Given the description of an element on the screen output the (x, y) to click on. 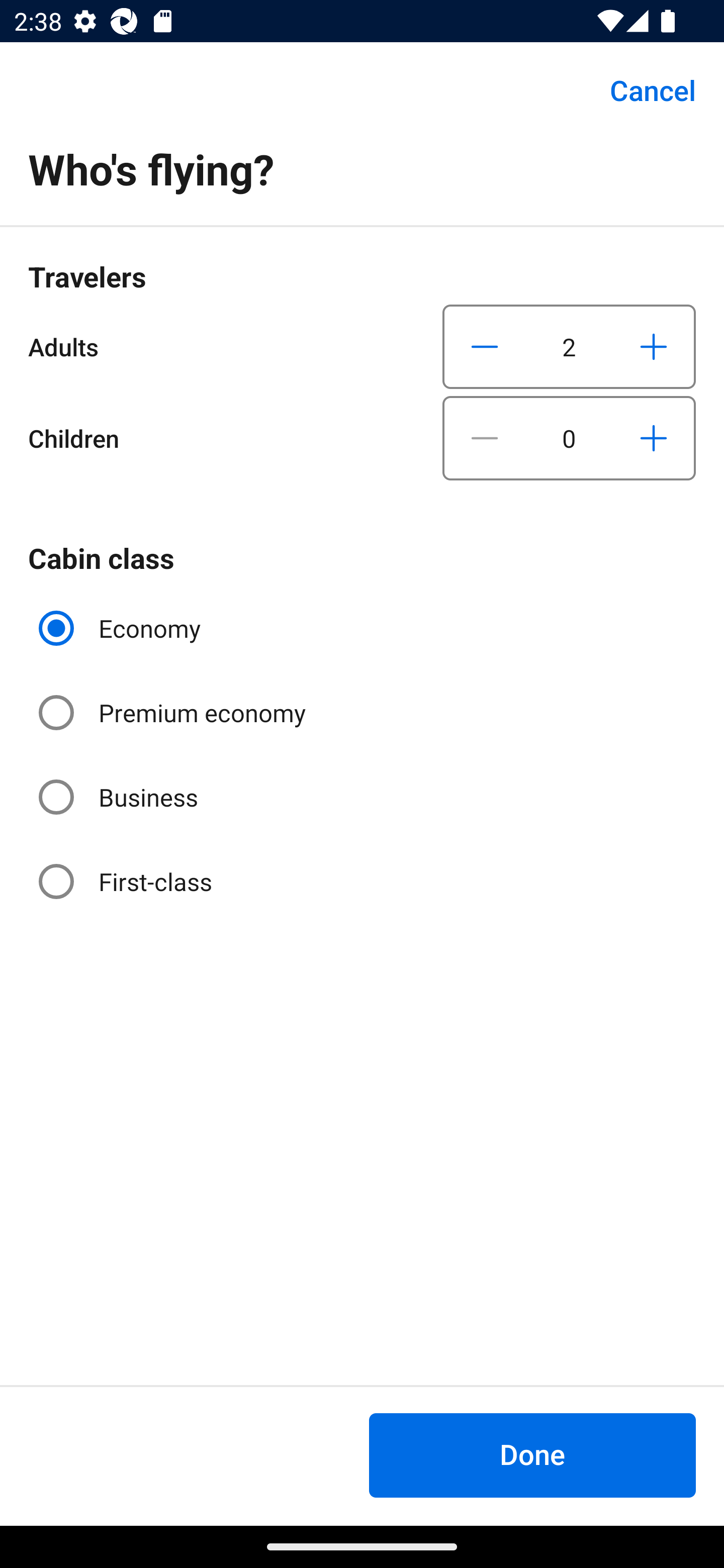
Cancel (641, 90)
Decrease (484, 346)
Increase (653, 346)
Decrease (484, 437)
Increase (653, 437)
Economy (121, 628)
Premium economy (174, 712)
Business (120, 796)
First-class (126, 880)
Done (532, 1454)
